Given the description of an element on the screen output the (x, y) to click on. 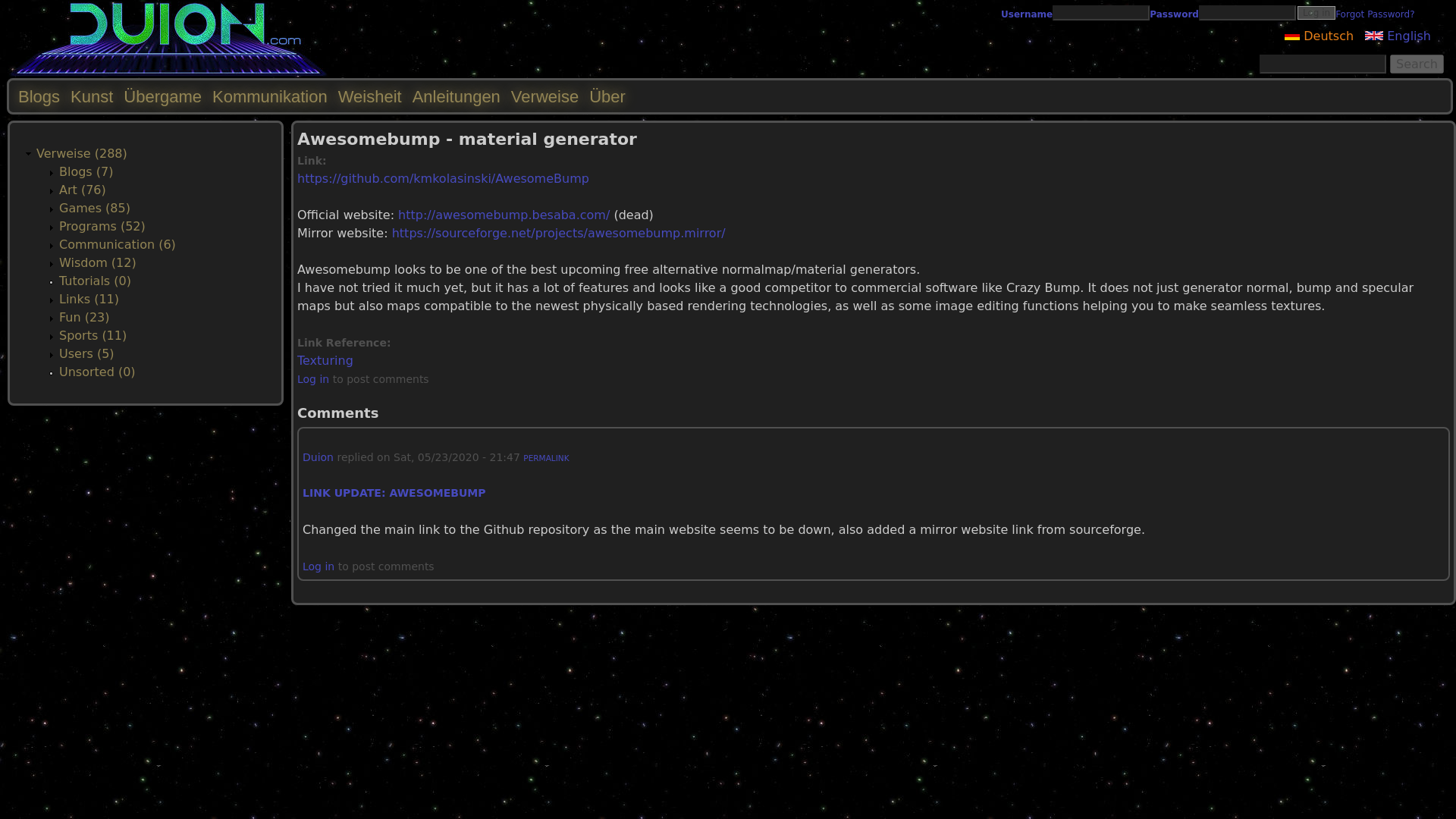
Log in (313, 378)
Deutsch (1292, 35)
Log in (1316, 12)
Texturing (325, 359)
Search (1417, 63)
Weisheit (369, 96)
duion.com (168, 73)
Duion (317, 457)
View user profile. (317, 457)
Kommunikation (270, 96)
Search (1417, 63)
PERMALINK (545, 457)
Request new password via e-mail. (1374, 14)
LINK UPDATE: AWESOMEBUMP (394, 492)
Verweise (544, 96)
